Given the description of an element on the screen output the (x, y) to click on. 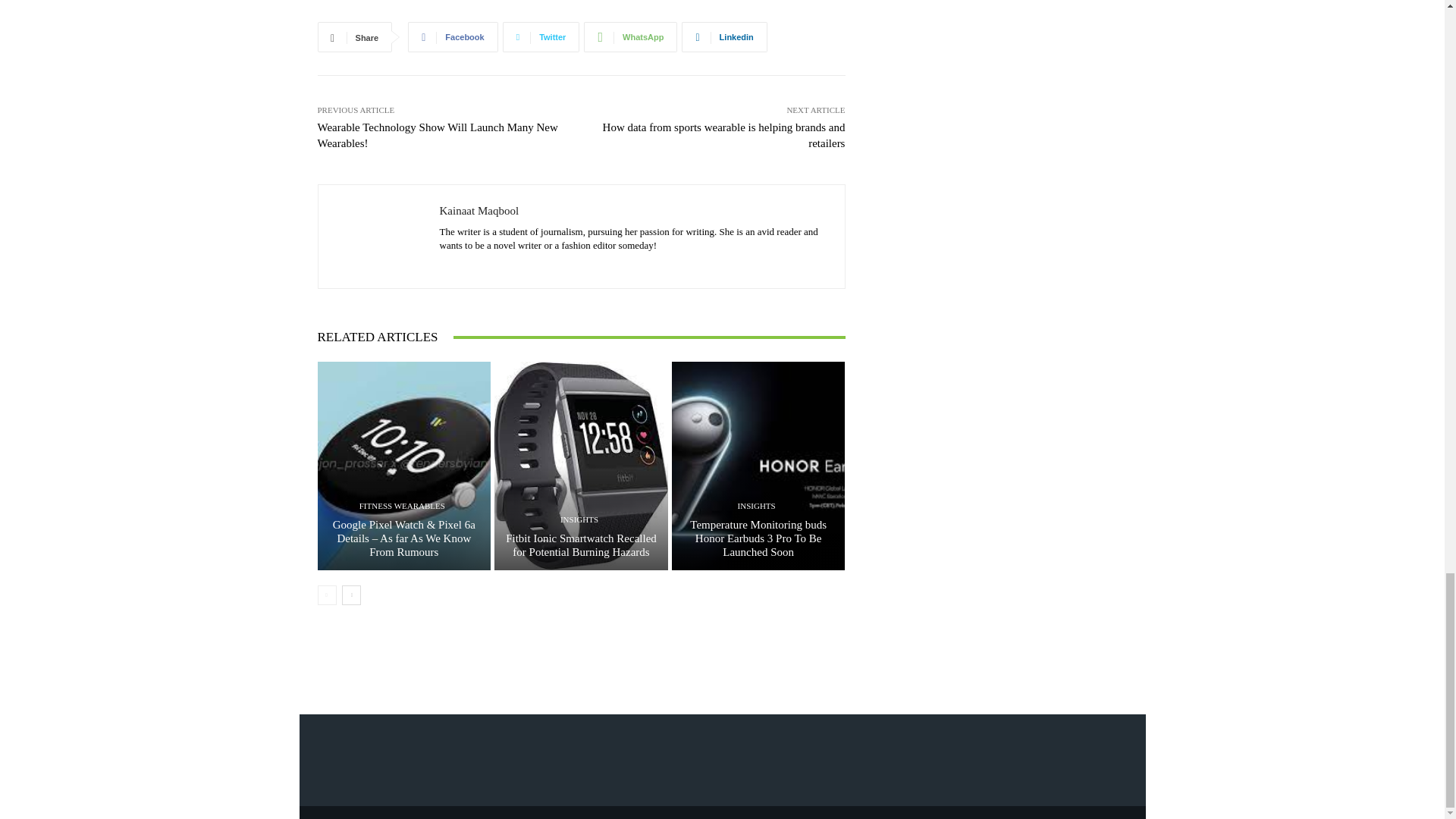
Facebook (452, 37)
